Given the description of an element on the screen output the (x, y) to click on. 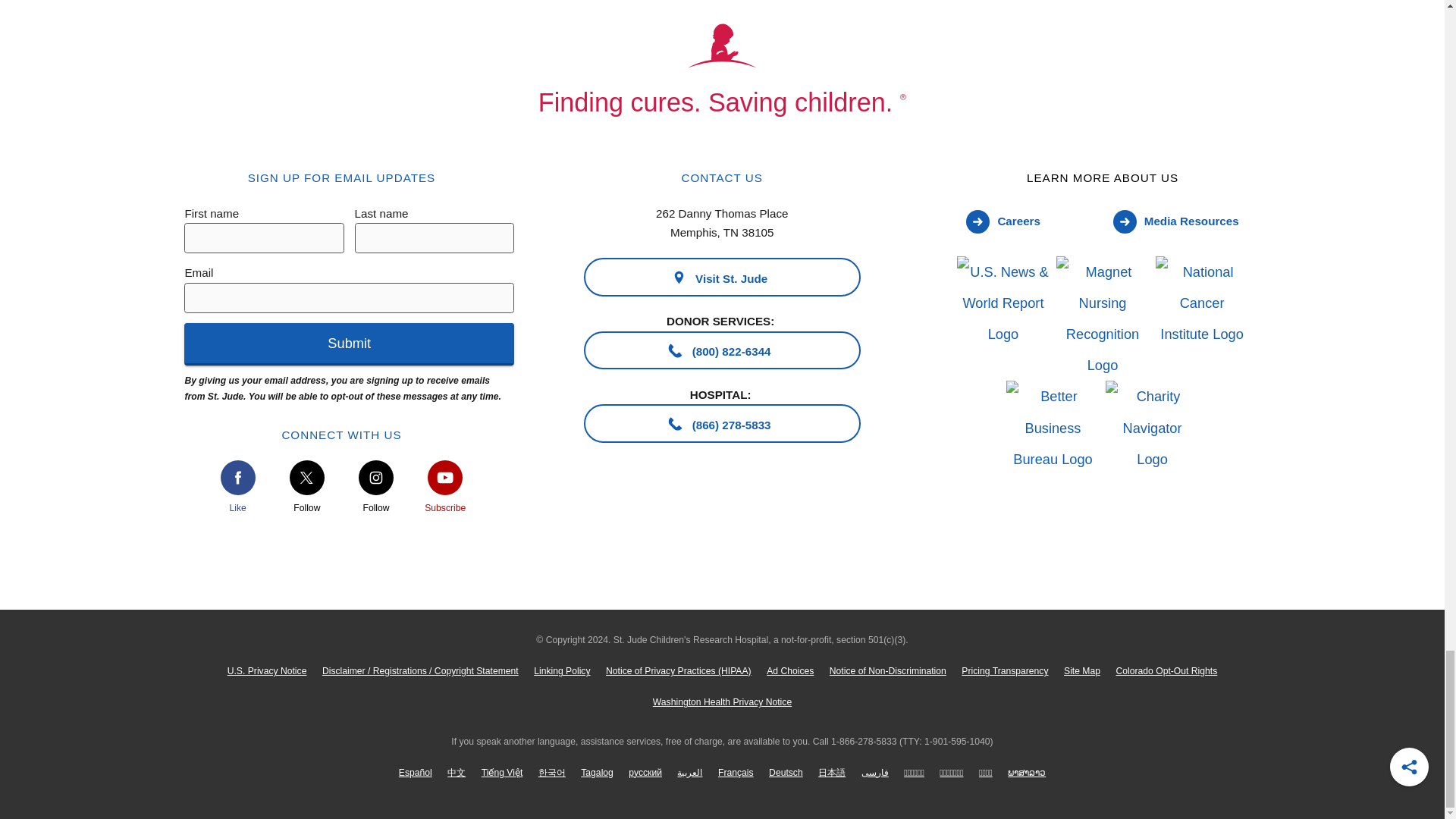
Washington Health Privacy Notice (722, 702)
U.S. Privacy Notice (266, 671)
Careers (1003, 222)
Media Resources (1176, 222)
Pricing Transparency (1005, 671)
Linking Policy (561, 671)
Visit St. Jude (721, 276)
Notice of Non-Discrimination (888, 671)
Site Map (1082, 671)
Ad Choices (790, 671)
Colorado Opt-Out Rights (1166, 671)
